Given the description of an element on the screen output the (x, y) to click on. 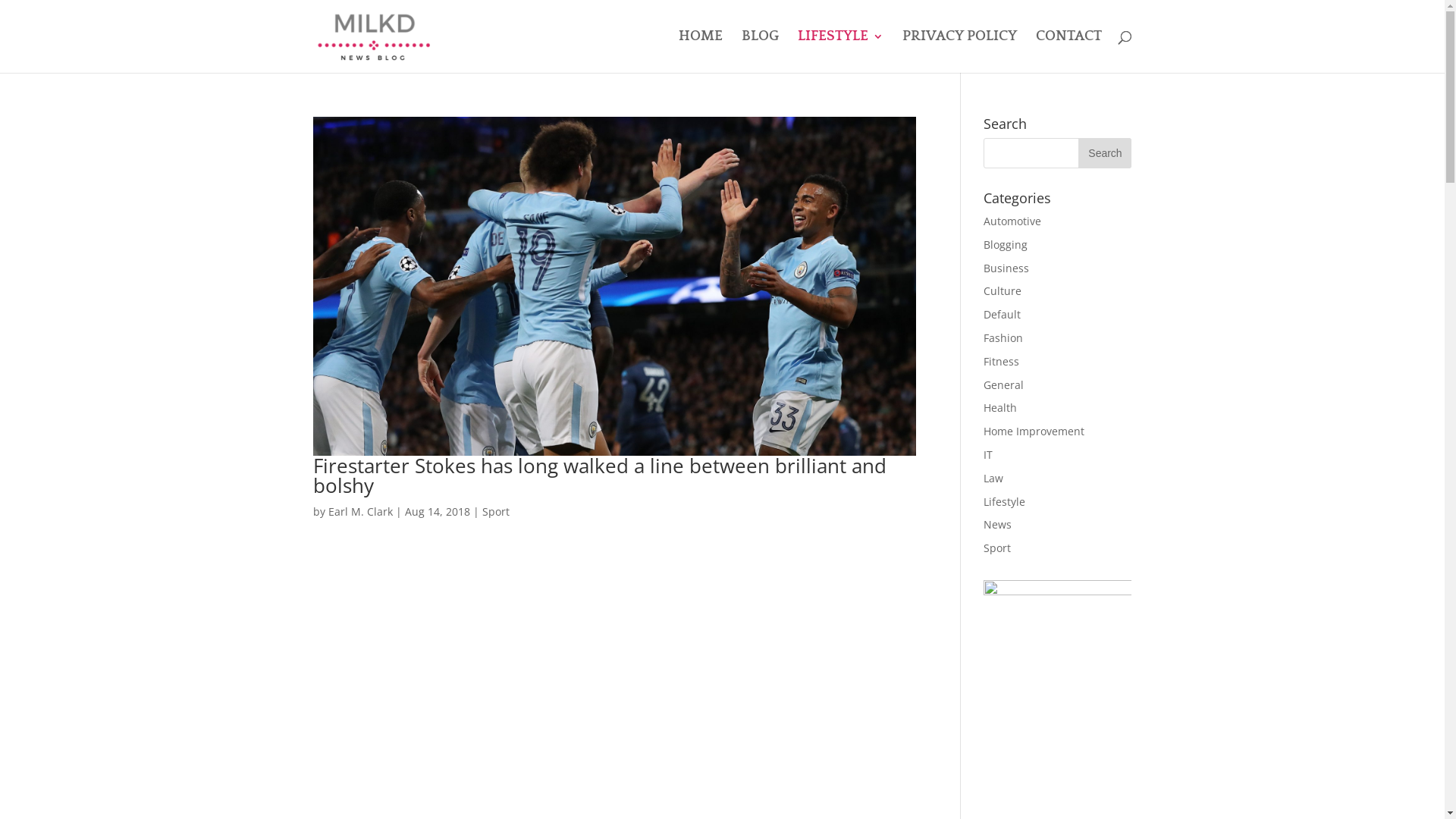
CONTACT Element type: text (1068, 51)
HOME Element type: text (699, 51)
News Element type: text (997, 524)
Sport Element type: text (495, 511)
Blogging Element type: text (1005, 244)
LIFESTYLE Element type: text (840, 51)
Sport Element type: text (996, 547)
Culture Element type: text (1002, 290)
Automotive Element type: text (1012, 220)
Fashion Element type: text (1002, 337)
Default Element type: text (1001, 314)
Earl M. Clark Element type: text (359, 511)
General Element type: text (1003, 384)
Health Element type: text (999, 407)
Business Element type: text (1006, 267)
PRIVACY POLICY Element type: text (959, 51)
Law Element type: text (993, 477)
IT Element type: text (987, 454)
BLOG Element type: text (759, 51)
Search Element type: text (1104, 153)
Fitness Element type: text (1001, 361)
Home Improvement Element type: text (1033, 430)
Lifestyle Element type: text (1004, 501)
